Given the description of an element on the screen output the (x, y) to click on. 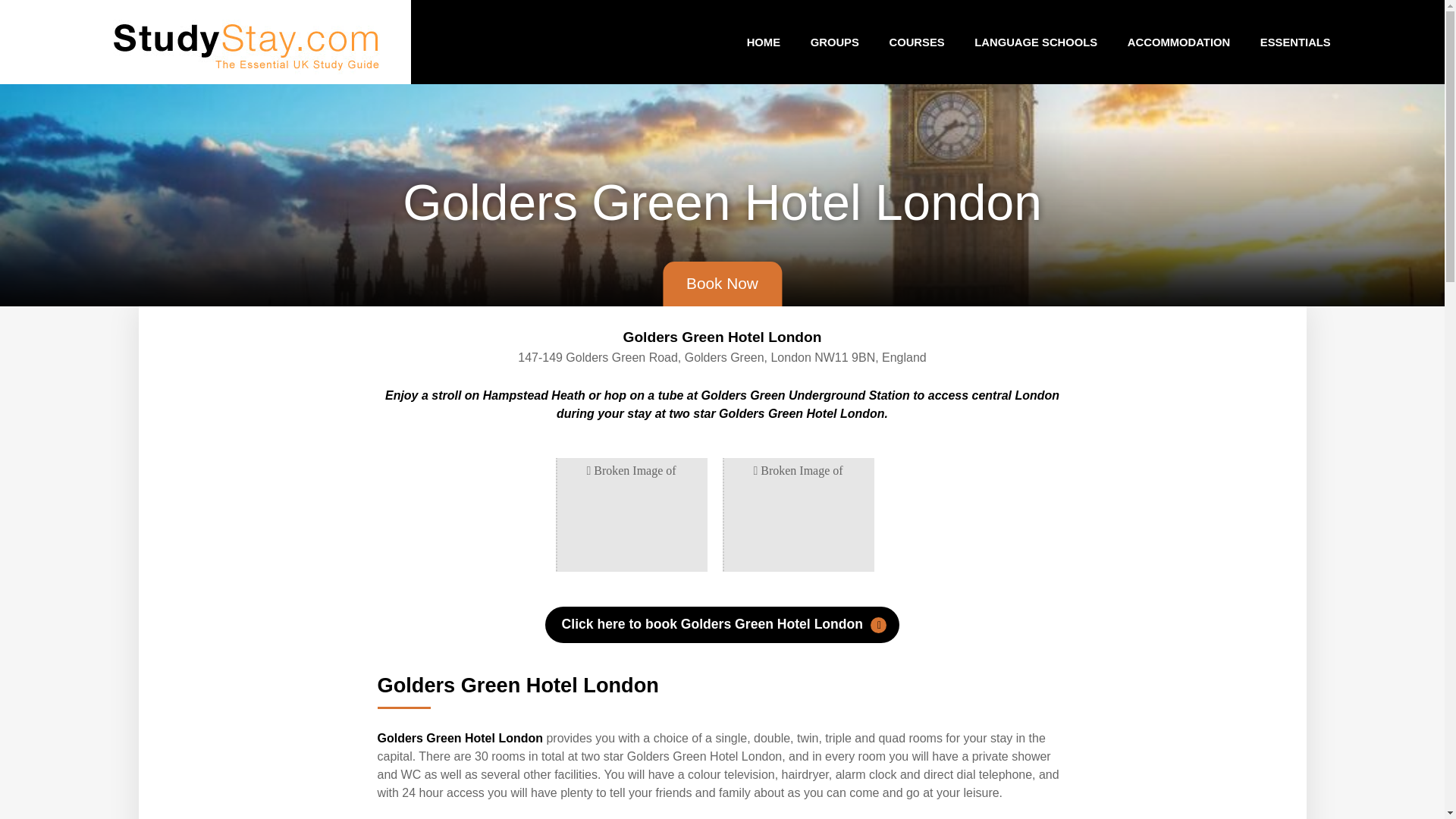
Click here to book Golders Green Hotel London (721, 624)
Essentials (1294, 41)
Groups (834, 41)
ESSENTIALS (1294, 41)
GROUPS (834, 41)
Golders Green Hotel London, London (721, 624)
ACCOMMODATION (1178, 41)
Language Schools (1035, 41)
StudyStay (245, 41)
HOME (763, 41)
Courses (917, 41)
Home (763, 41)
Accommodation (1178, 41)
Book Now (721, 283)
LANGUAGE SCHOOLS (1035, 41)
